Given the description of an element on the screen output the (x, y) to click on. 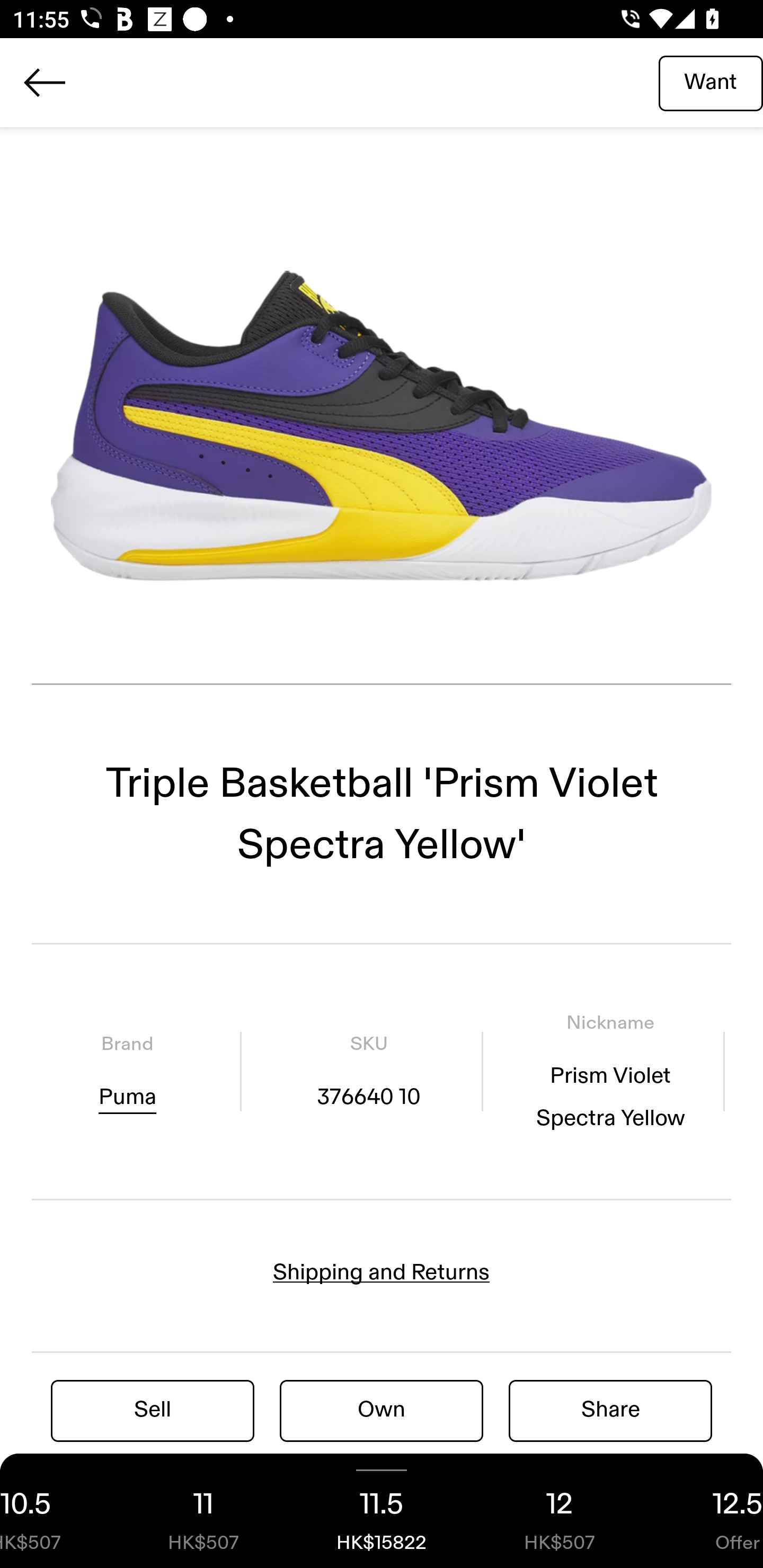
Want (710, 82)
Brand Puma (126, 1070)
SKU 376640 10 (368, 1070)
Nickname Prism Violet Spectra Yellow (609, 1070)
Shipping and Returns (381, 1272)
Sell (152, 1410)
Own (381, 1410)
Share (609, 1410)
10.5 HK$507 (57, 1510)
11 HK$507 (203, 1510)
11.5 HK$15822 (381, 1510)
12 HK$507 (559, 1510)
12.5 Offer (705, 1510)
